Given the description of an element on the screen output the (x, y) to click on. 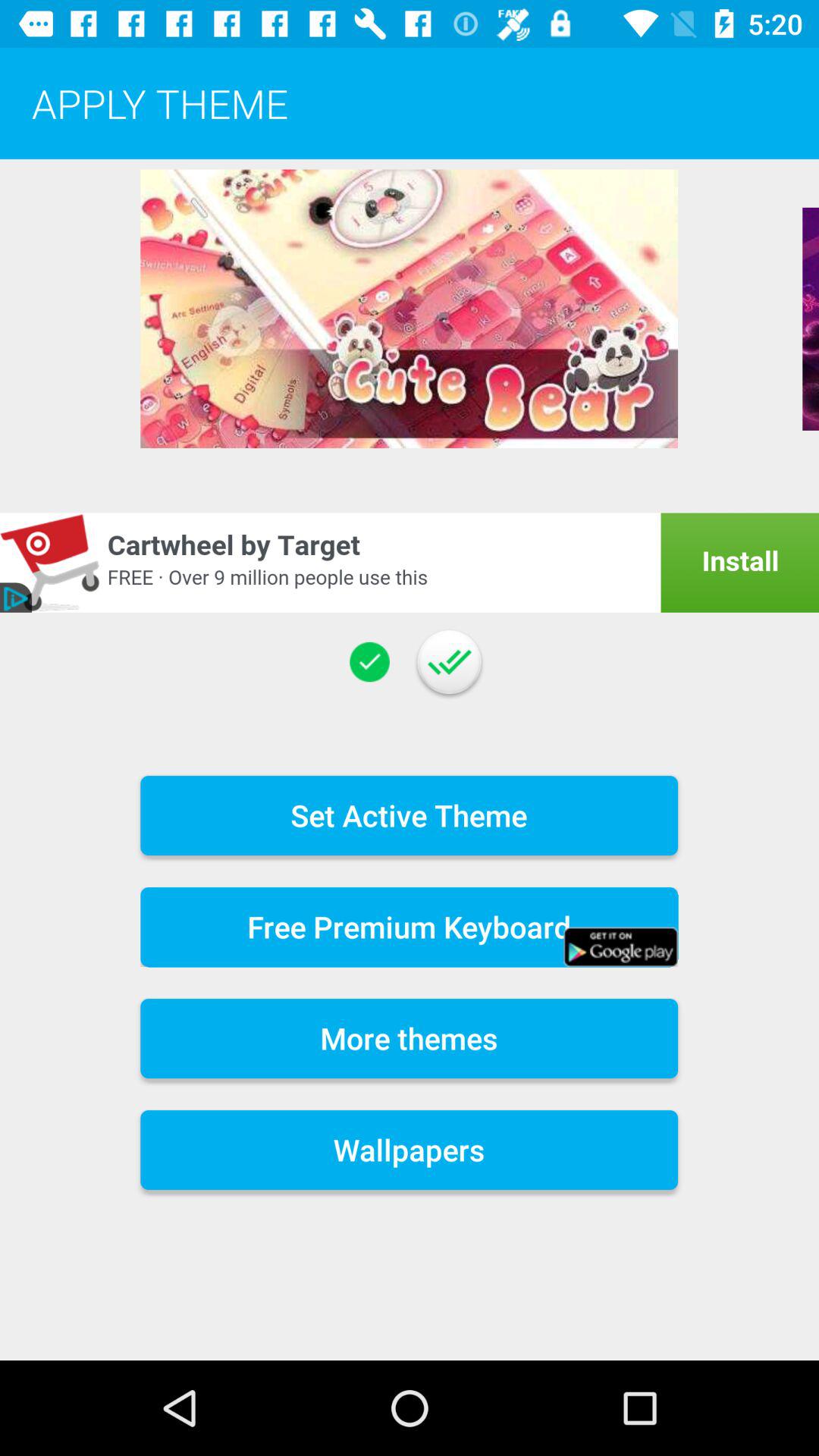
scroll to set active theme (408, 815)
